Given the description of an element on the screen output the (x, y) to click on. 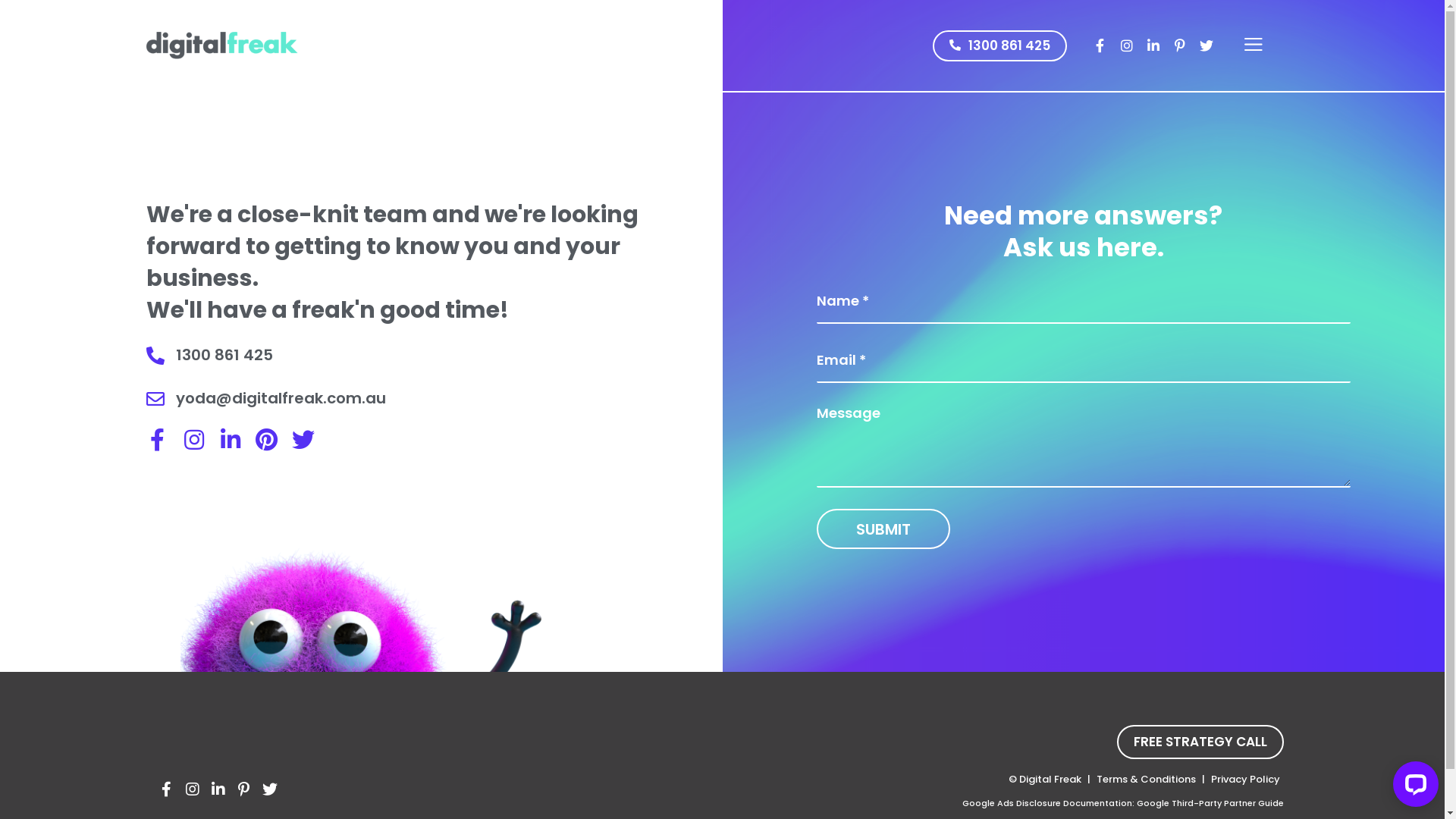
Privacy Policy Element type: text (1245, 778)
1300 861 425 Element type: text (999, 45)
ppc agency Melbourne Element type: hover (221, 45)
Terms & Conditions Element type: text (1145, 778)
FREE STRATEGY CALL Element type: text (1199, 741)
Submit Element type: text (883, 528)
Google Third-Party Partner Guide Element type: text (1209, 803)
